Given the description of an element on the screen output the (x, y) to click on. 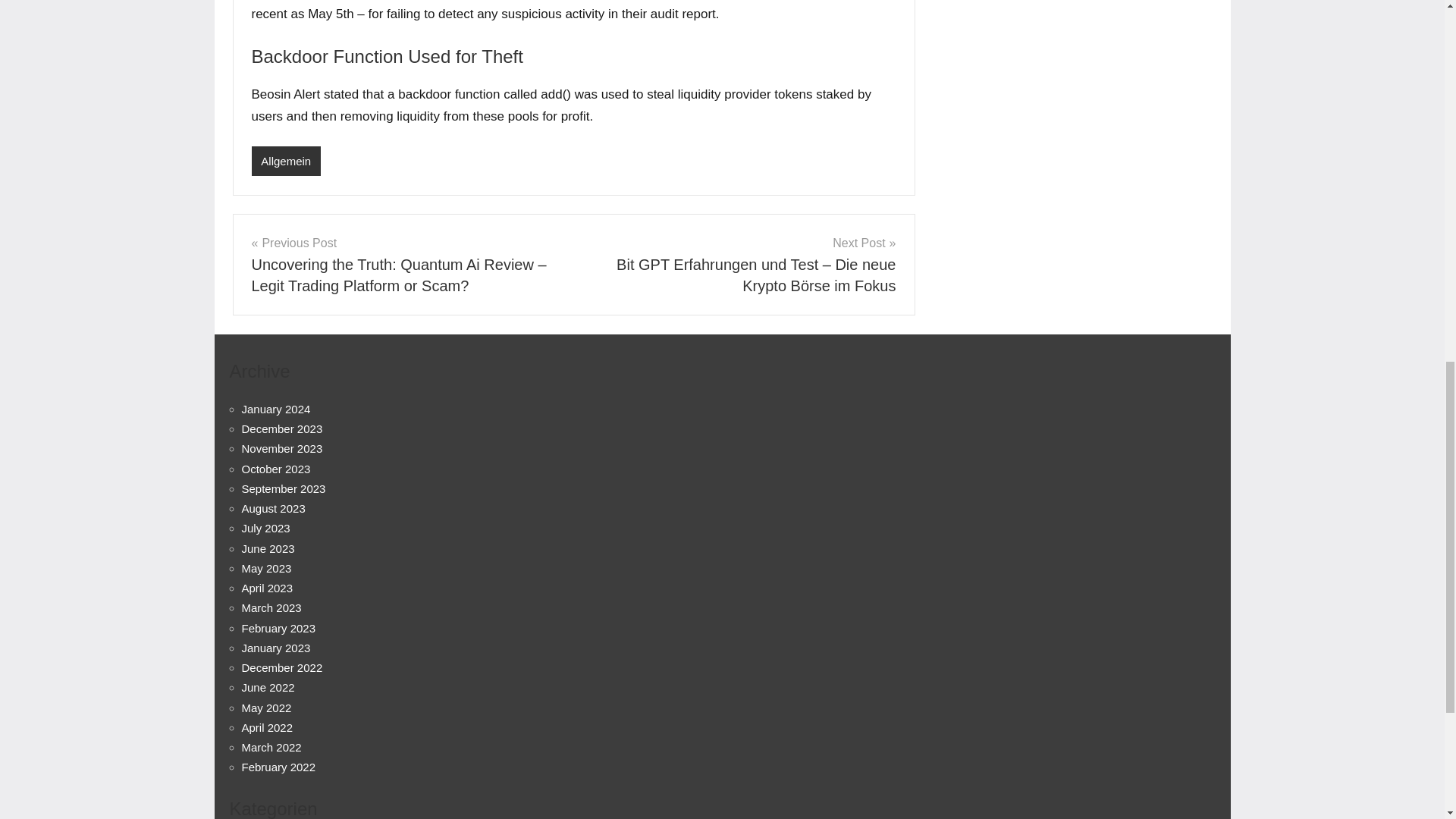
May 2022 (266, 707)
September 2023 (282, 488)
March 2022 (271, 747)
November 2023 (281, 448)
July 2023 (265, 527)
October 2023 (275, 468)
June 2023 (267, 547)
August 2023 (272, 508)
Allgemein (285, 161)
January 2024 (275, 408)
April 2022 (266, 727)
February 2022 (278, 766)
April 2023 (266, 587)
February 2023 (278, 627)
May 2023 (266, 567)
